Given the description of an element on the screen output the (x, y) to click on. 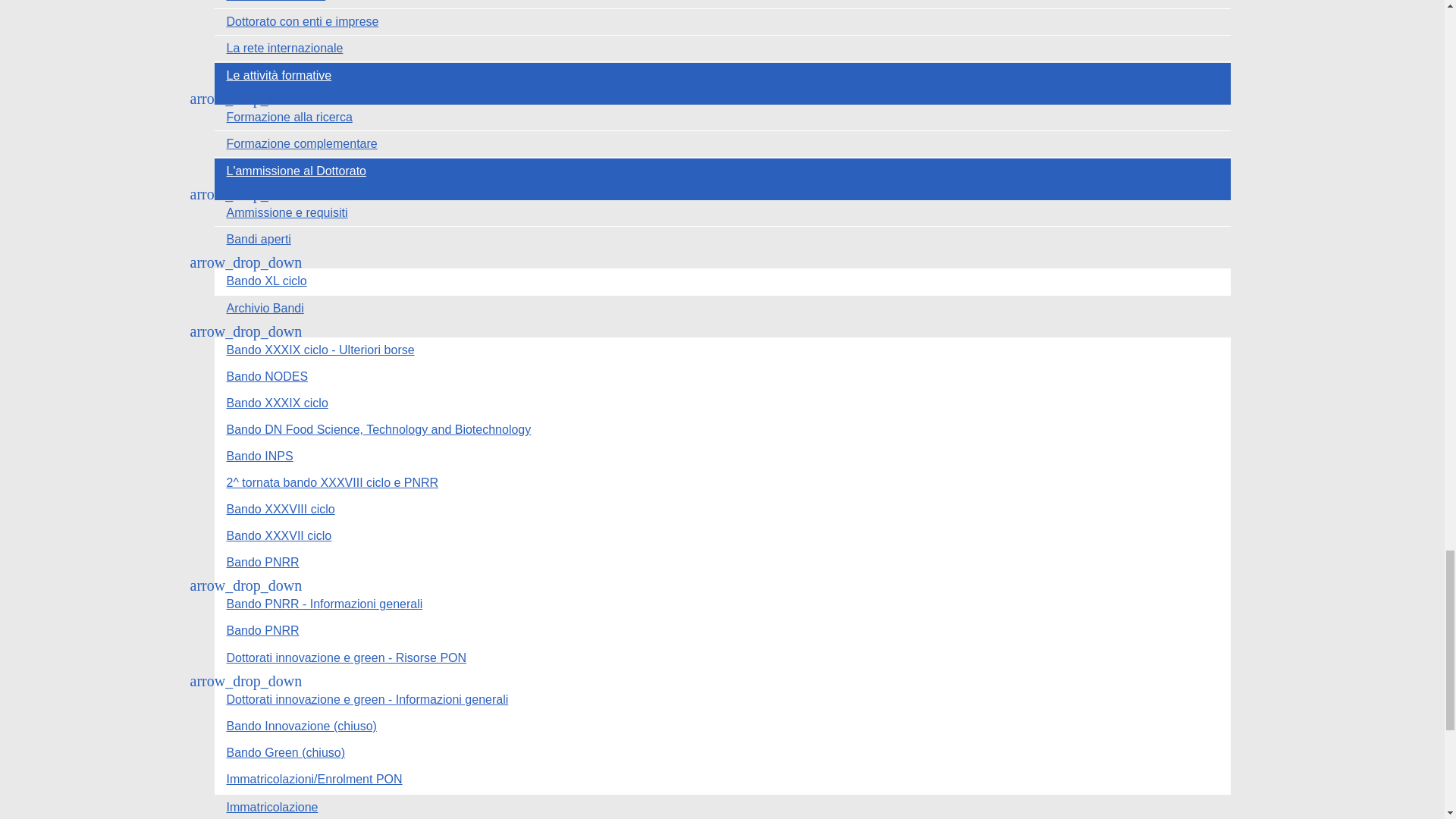
Dottorato con enti e imprese (722, 22)
